Given the description of an element on the screen output the (x, y) to click on. 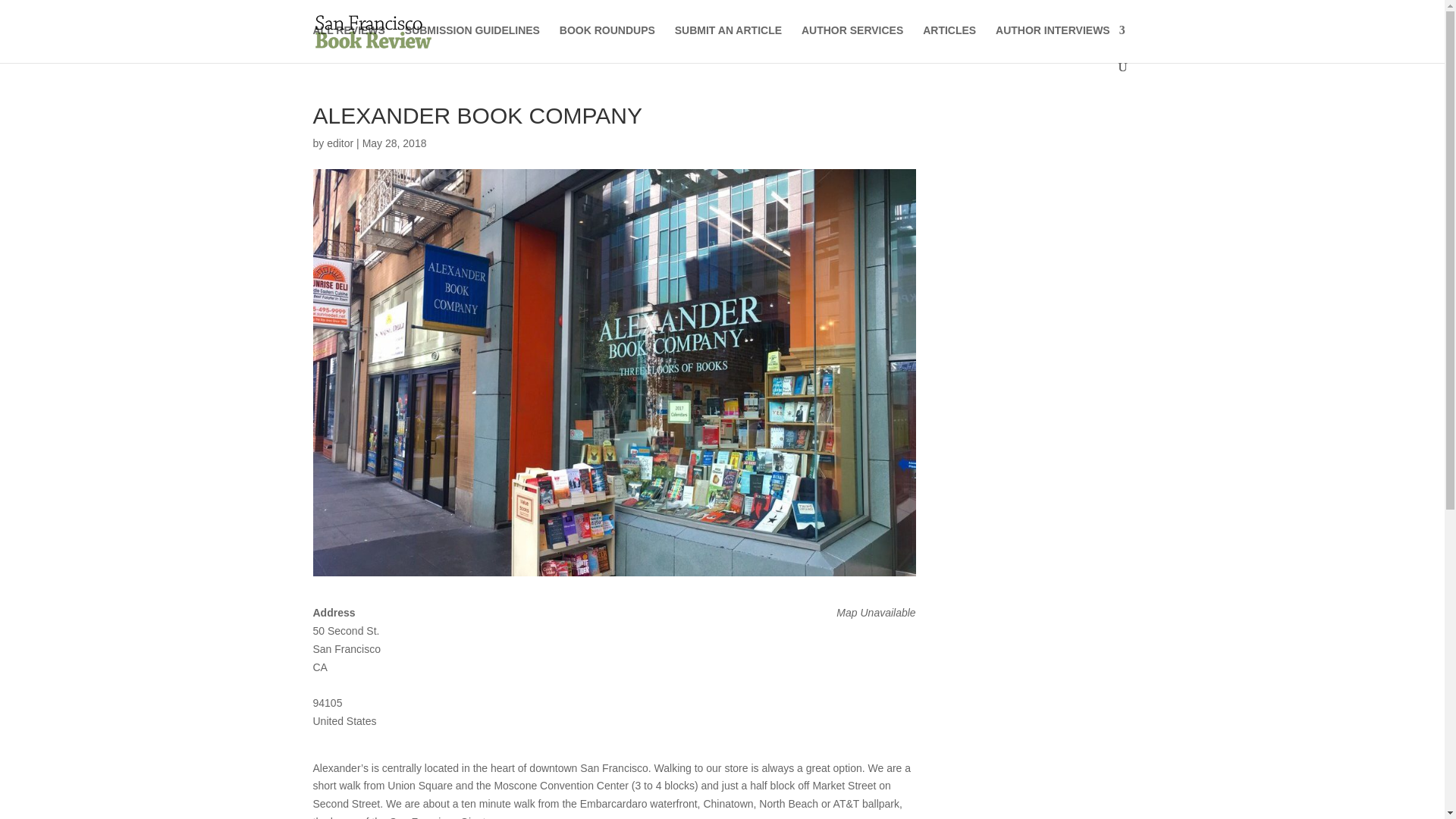
ALL REVIEWS (348, 42)
editor (339, 143)
Posts by editor (339, 143)
AUTHOR SERVICES (852, 42)
BOOK ROUNDUPS (607, 42)
ARTICLES (949, 42)
AUTHOR INTERVIEWS (1060, 42)
SUBMIT AN ARTICLE (728, 42)
SUBMISSION GUIDELINES (472, 42)
